Given the description of an element on the screen output the (x, y) to click on. 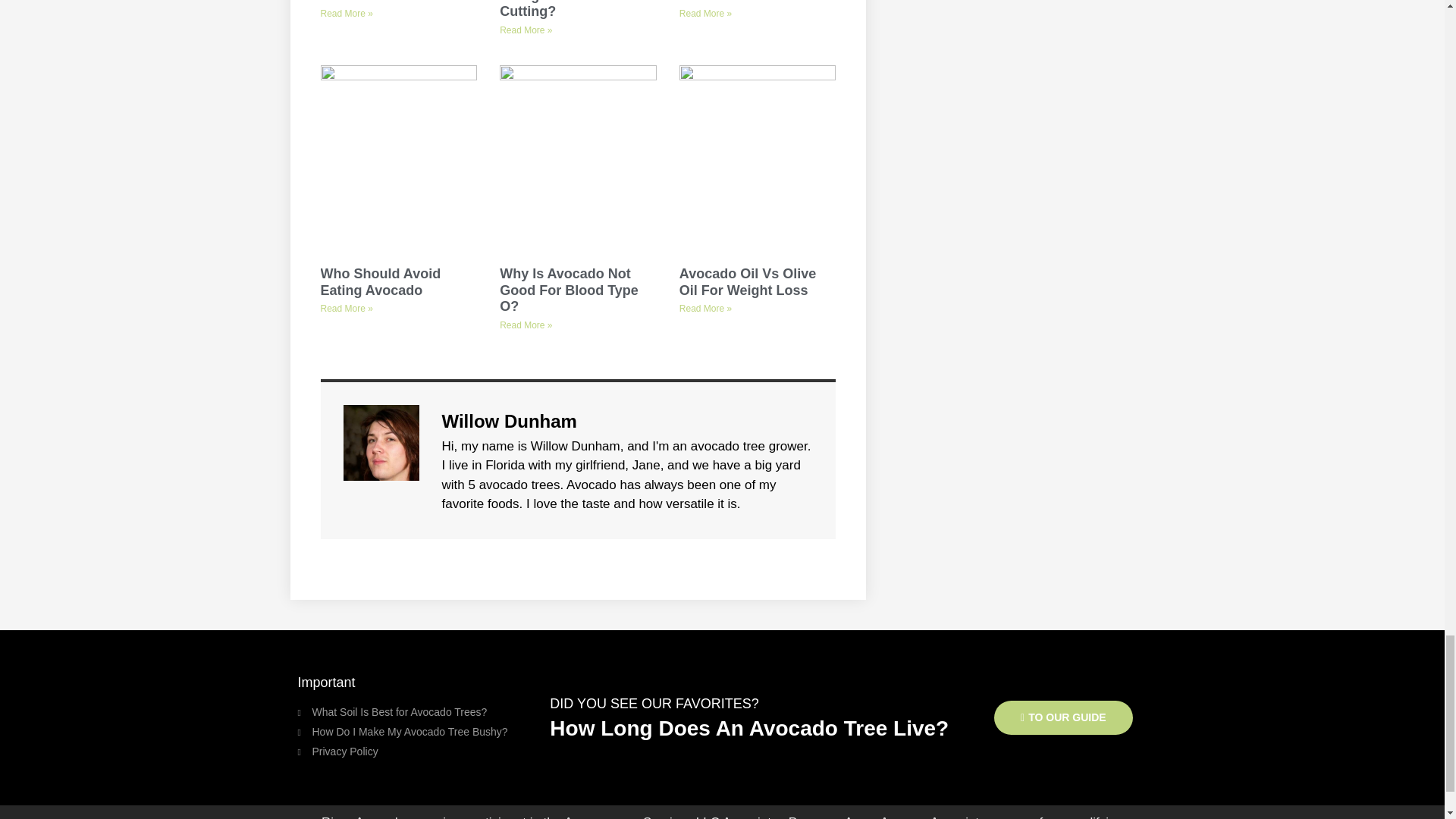
Is Avocado Low Calorie? (371, 1)
Who Should Avoid Eating Avocado (380, 282)
Avocado Oil Vs Olive Oil For Weight Loss (747, 282)
Why Is Avocado Not Good For Blood Type O? (569, 289)
Should Avocado Be Refrigerated After Cutting? (563, 9)
